Given the description of an element on the screen output the (x, y) to click on. 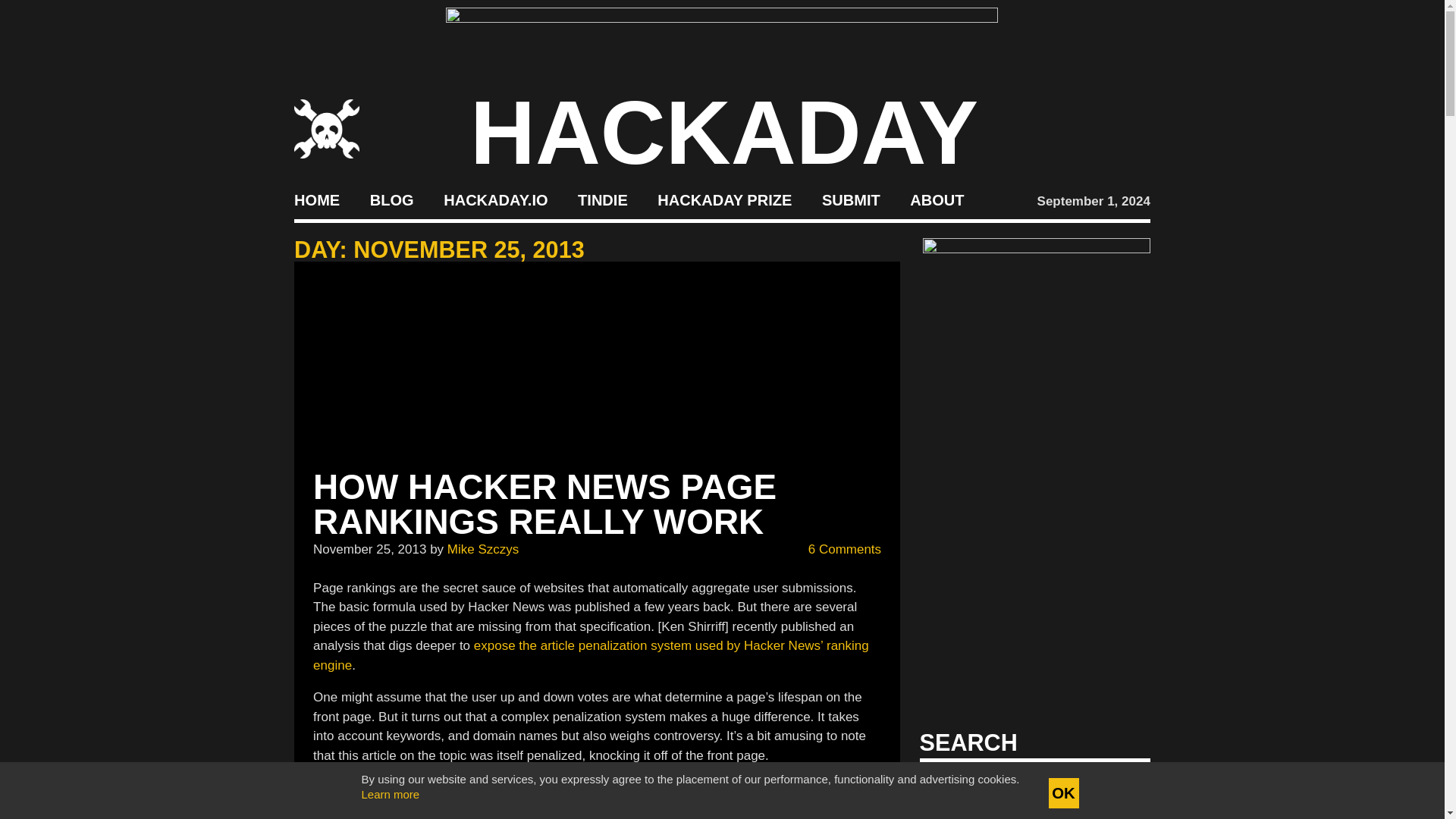
HACKADAY.IO (495, 200)
SUBMIT (851, 200)
6 Comments (834, 549)
Search (1115, 787)
HACKADAY (724, 131)
November 25, 2013 - 10:01 pm (369, 548)
BLOG (391, 200)
Posts by Mike Szczys (482, 548)
Search (1115, 787)
November 25, 2013 (369, 548)
